Given the description of an element on the screen output the (x, y) to click on. 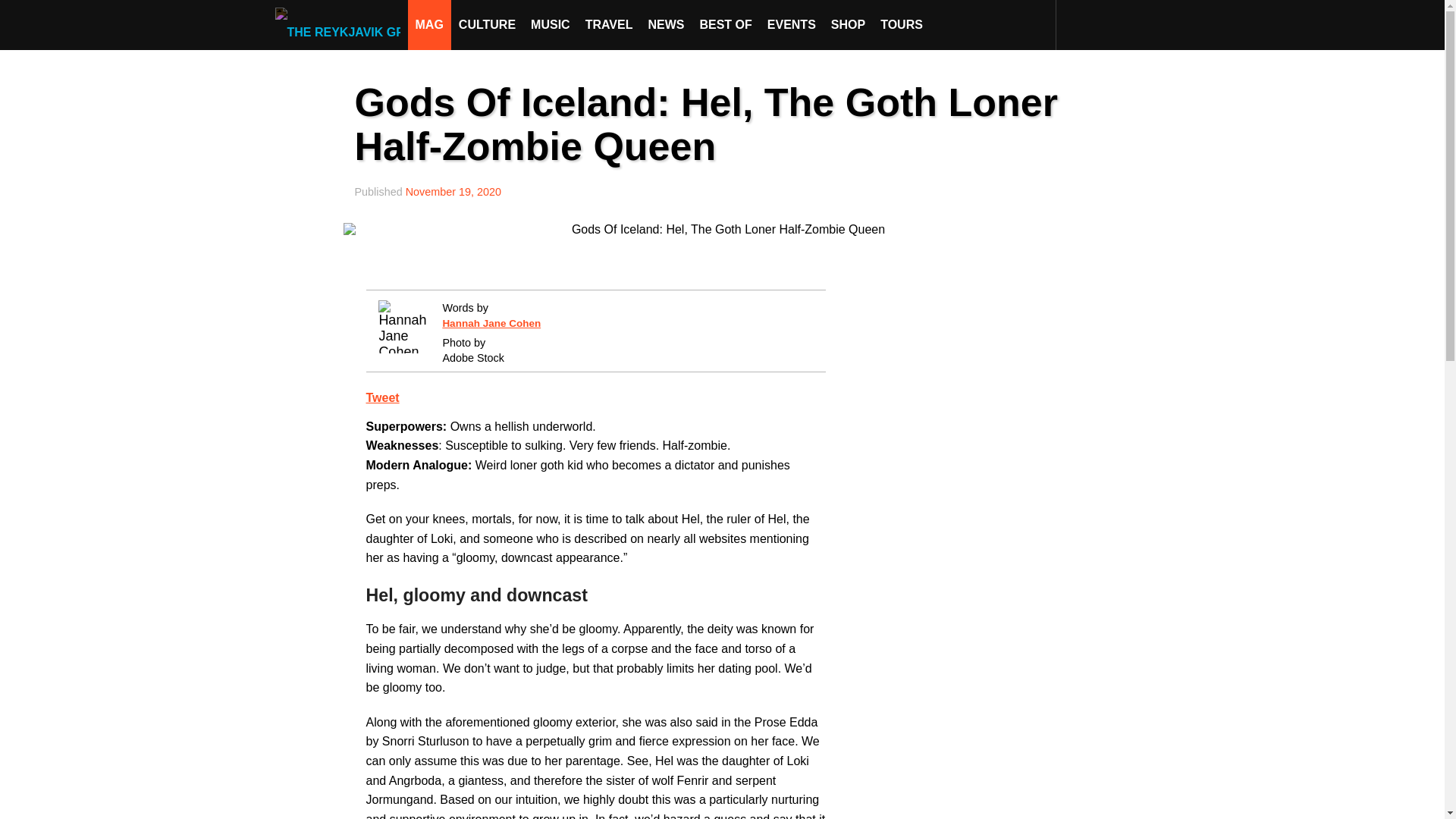
Tweet (381, 397)
TOURS (901, 24)
CULTURE (486, 24)
BEST OF (724, 24)
The Reykjavik Grapevine (341, 24)
Hannah Jane Cohen (491, 323)
SHOP (848, 24)
NEWS (665, 24)
TRAVEL (609, 24)
MUSIC (550, 24)
